Given the description of an element on the screen output the (x, y) to click on. 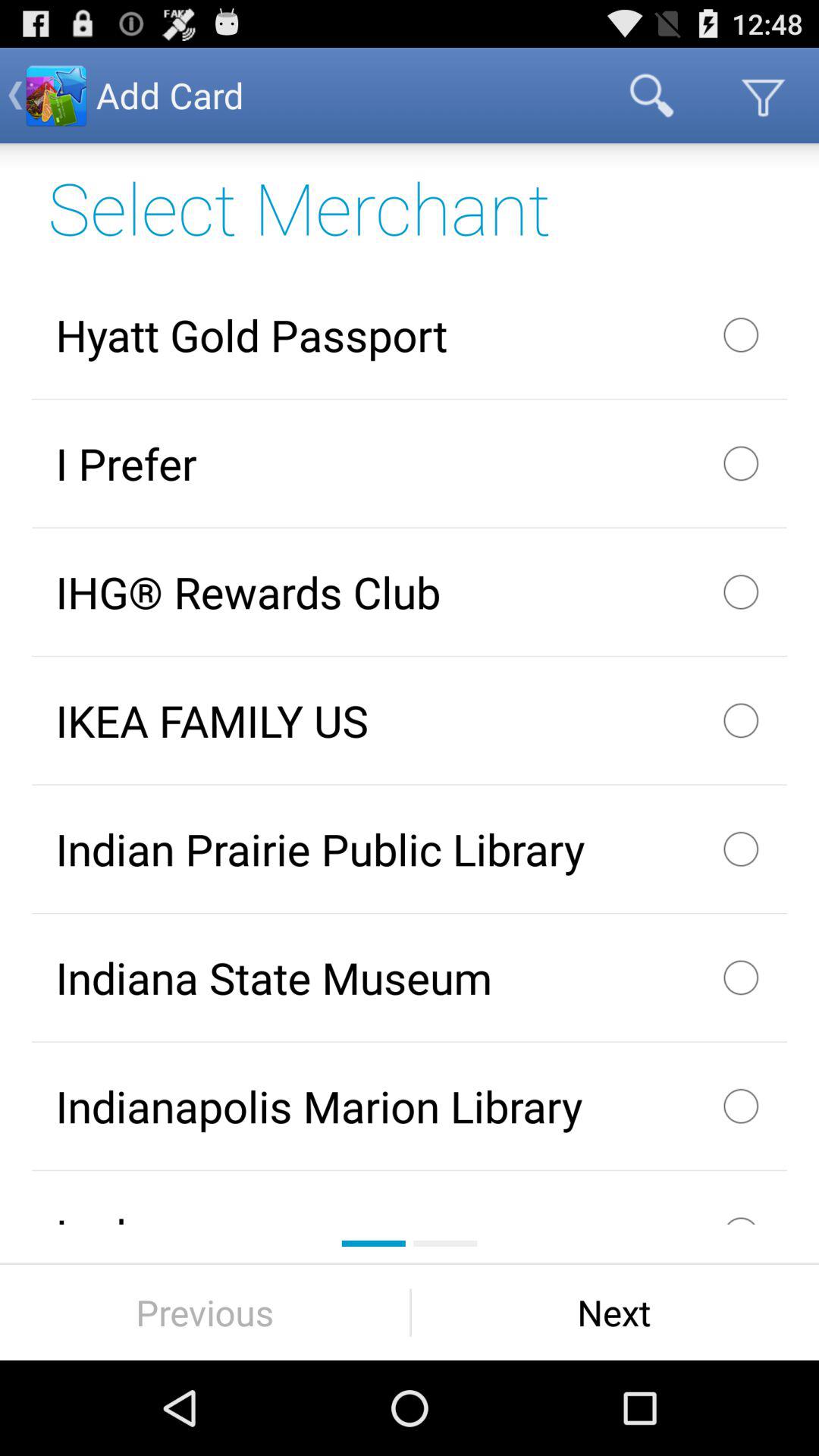
scroll until ikea family us checkbox (409, 720)
